Given the description of an element on the screen output the (x, y) to click on. 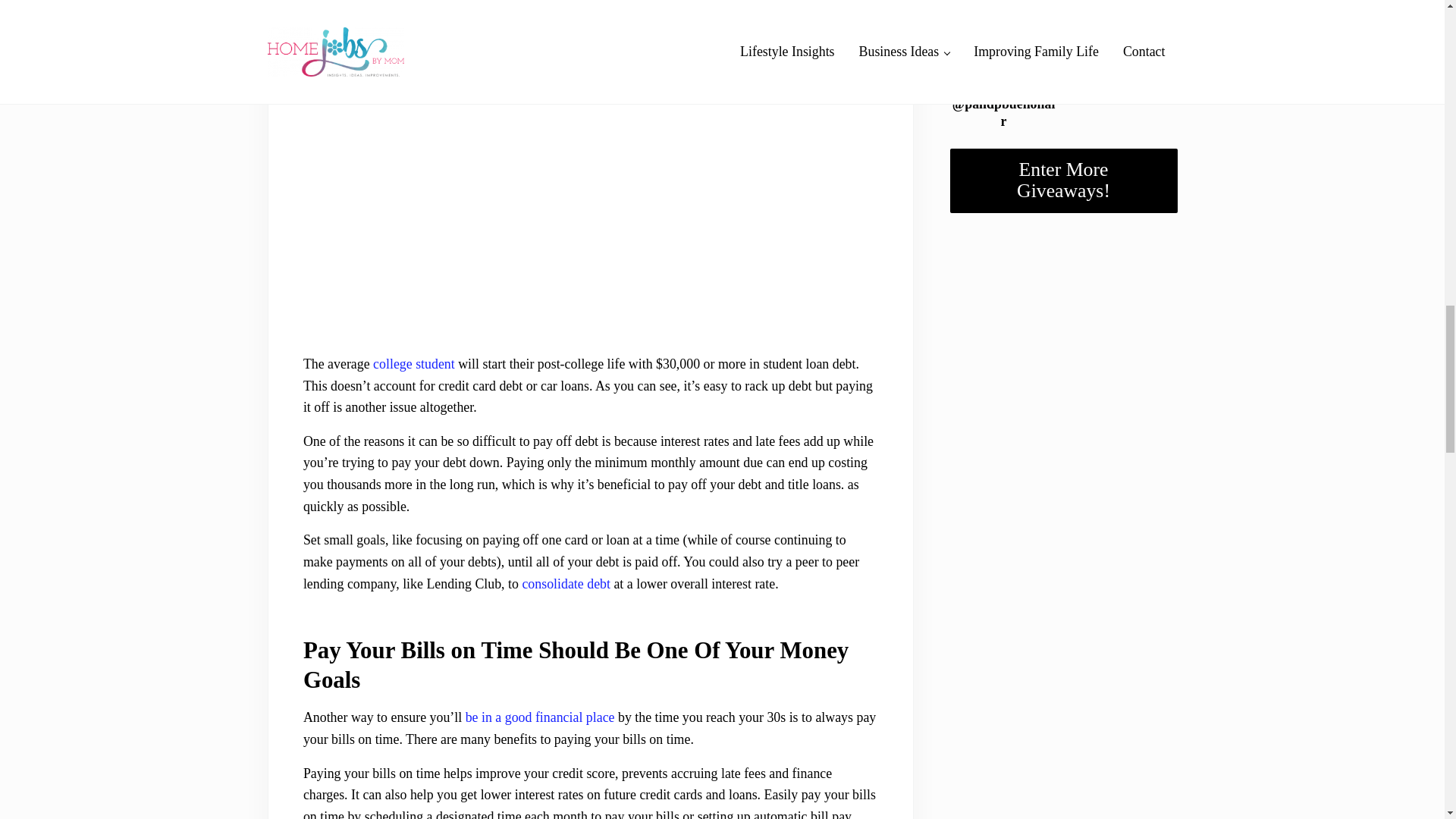
How to Cook as a Student: Tips and Tricks (413, 363)
be in a good financial place (539, 717)
college student (413, 363)
consolidate debt (565, 583)
